Given the description of an element on the screen output the (x, y) to click on. 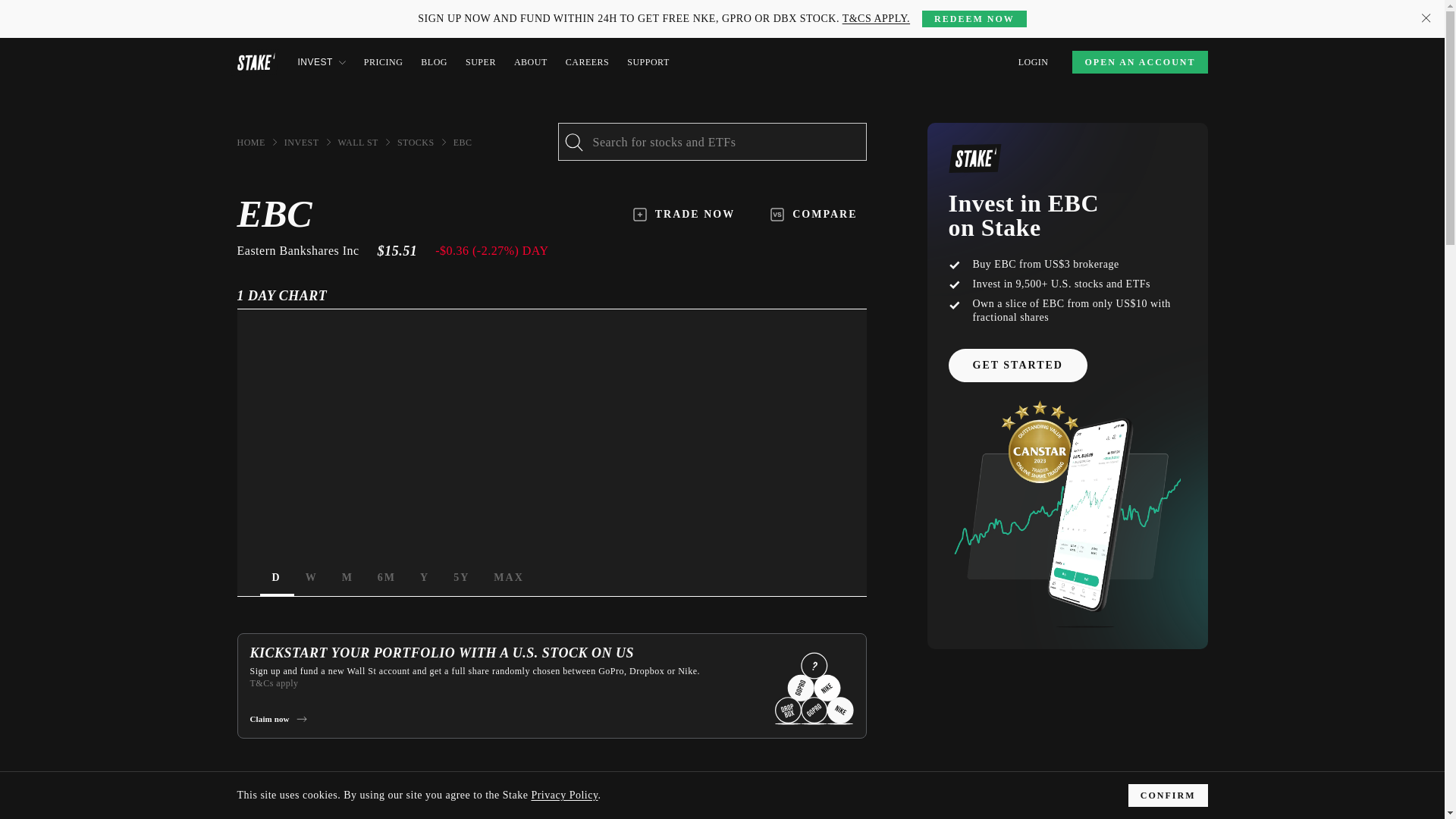
MAX (508, 577)
6M (386, 577)
GET STARTED (1016, 365)
COMPARE (813, 213)
WALL ST (357, 142)
SUPPORT (647, 61)
REDEEM NOW (973, 18)
Y (424, 577)
ABOUT (551, 577)
